Given the description of an element on the screen output the (x, y) to click on. 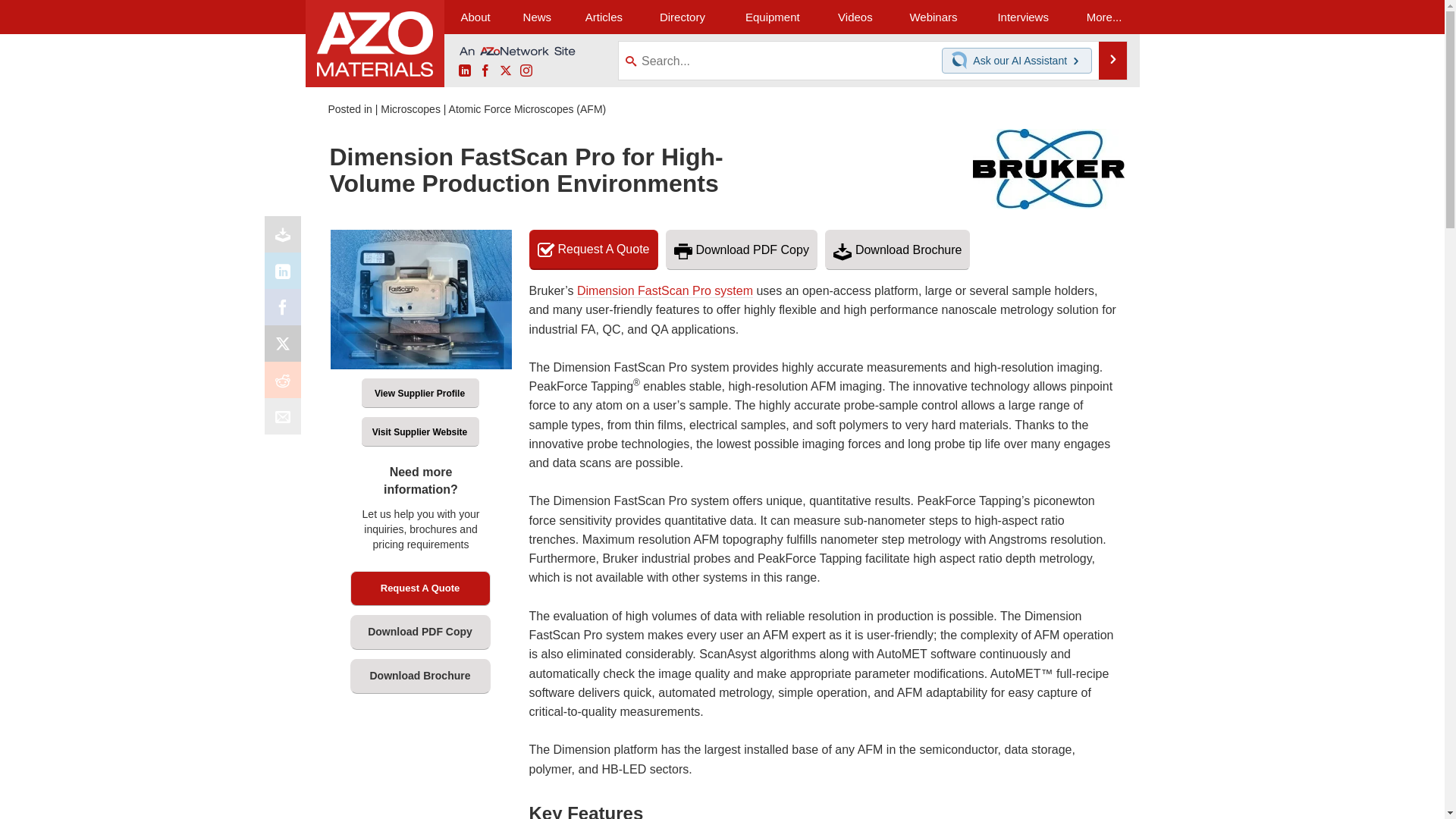
Equipment (772, 17)
Facebook (285, 311)
Interviews (1022, 17)
Chat with our AI Assistant (962, 60)
Videos (855, 17)
More... (1104, 17)
Instagram (525, 71)
LinkedIn (285, 275)
Facebook (485, 71)
Search (1112, 60)
Email (285, 420)
Reddit (285, 384)
News (536, 17)
Download PDF copy (285, 238)
X (285, 348)
